Given the description of an element on the screen output the (x, y) to click on. 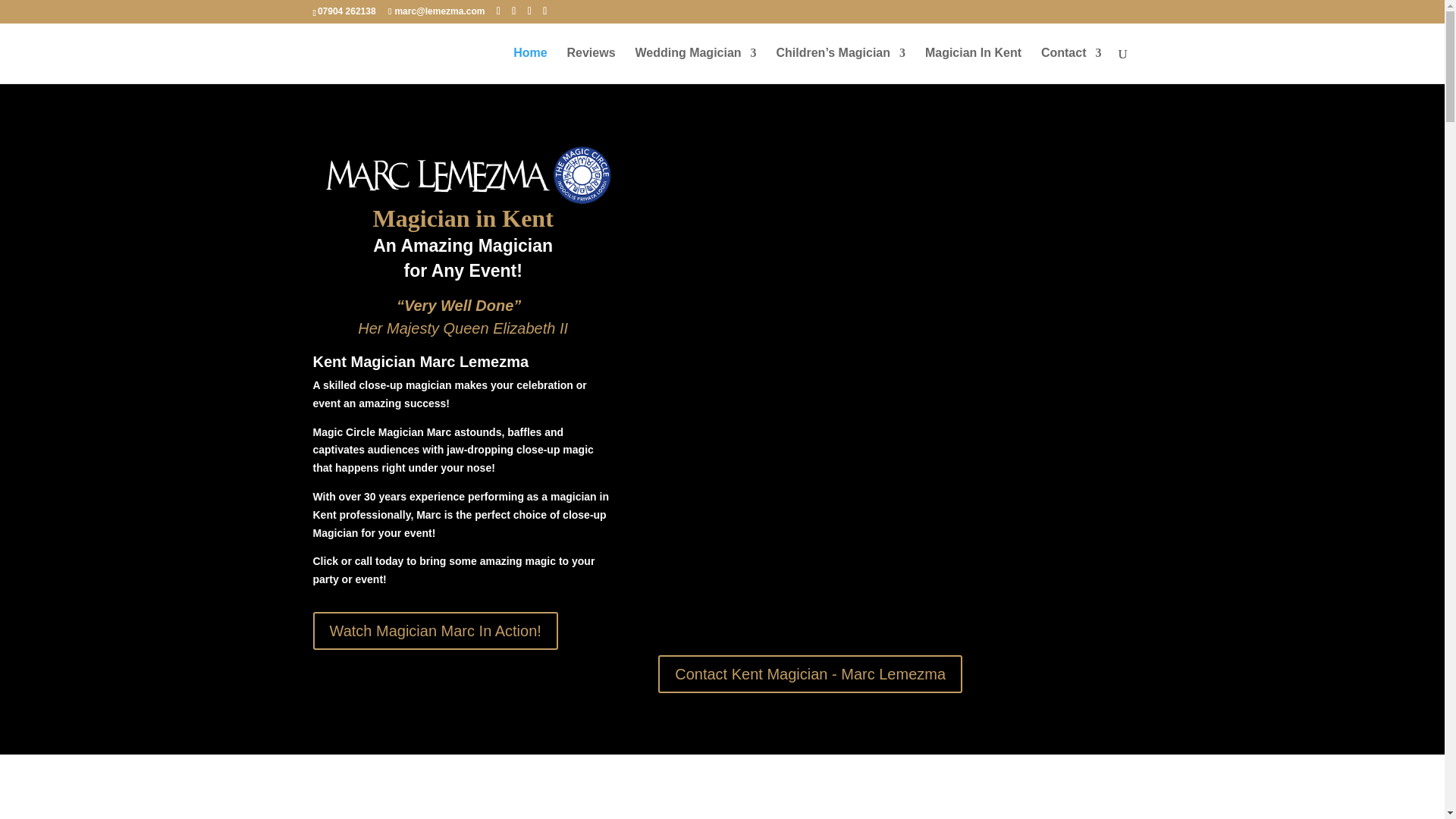
Reviews (591, 65)
Magician In Kent (973, 65)
Wedding Magician (694, 65)
Contact (1071, 65)
Home (530, 65)
Contact Kent Magician - Marc Lemezma (810, 673)
Watch Magician Marc In Action! (435, 630)
